Given the description of an element on the screen output the (x, y) to click on. 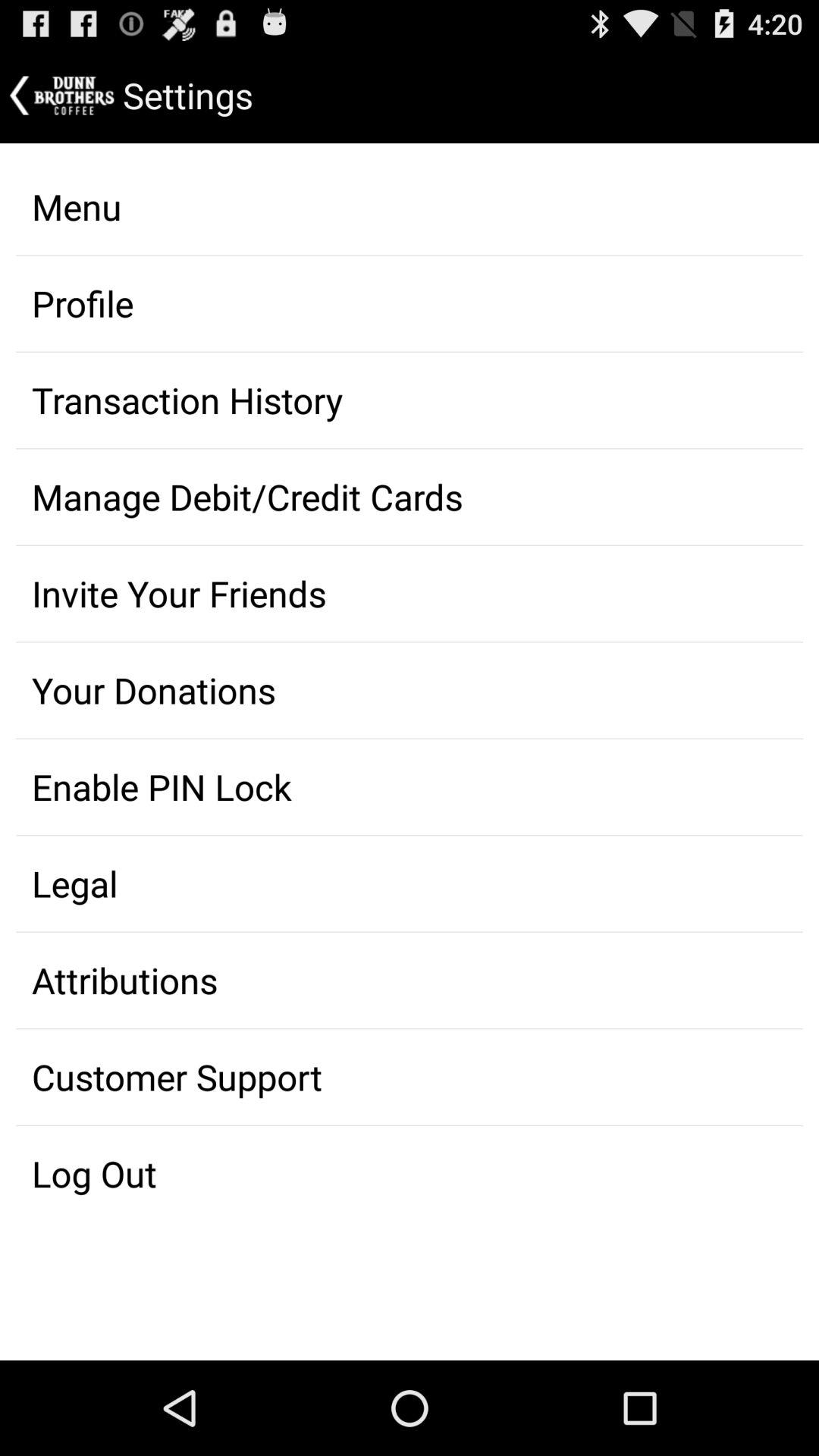
open icon above the invite your friends (409, 496)
